Given the description of an element on the screen output the (x, y) to click on. 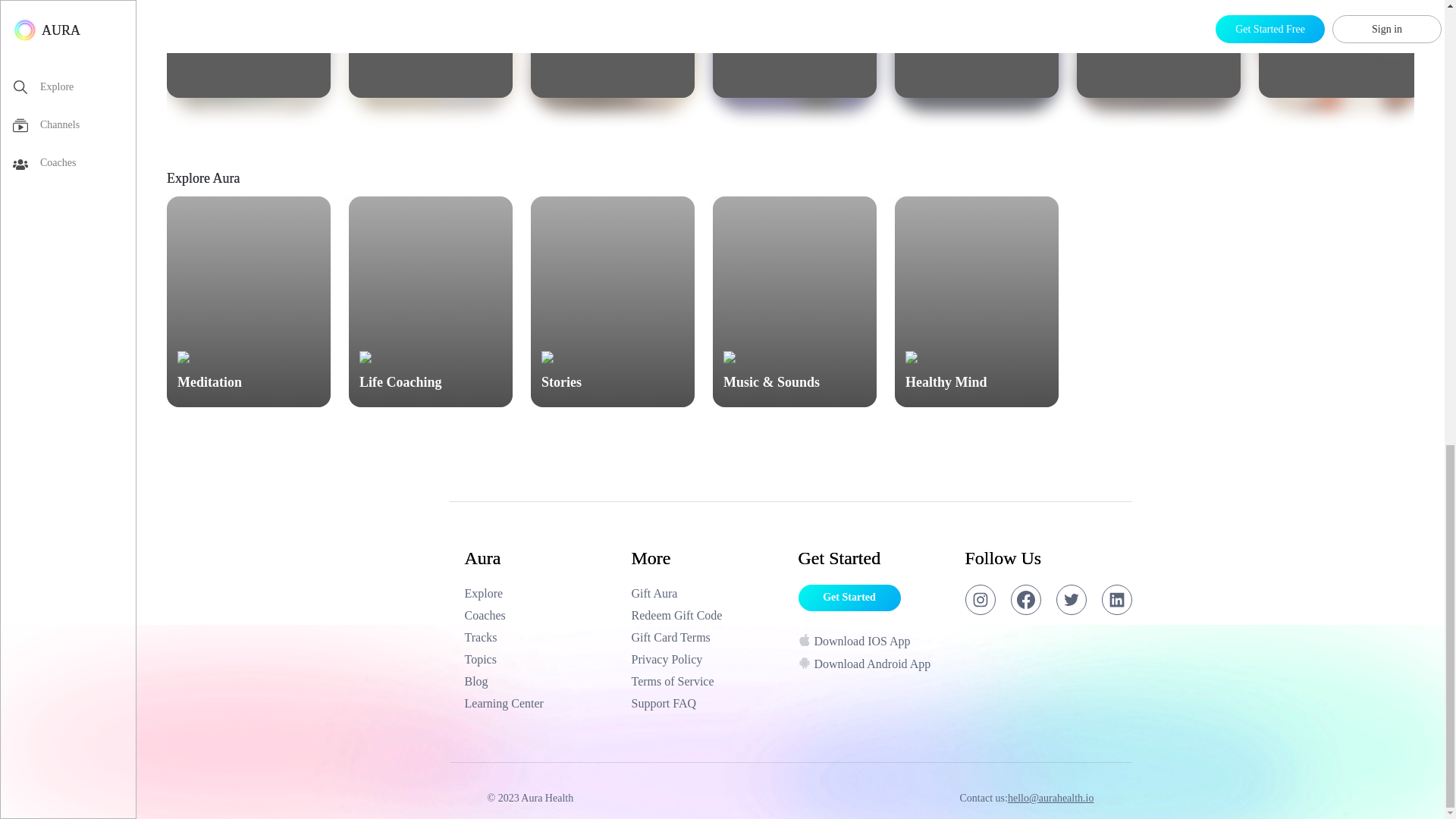
Gift Card Terms (706, 637)
Topics (539, 659)
Blog (430, 48)
Redeem Gift Code (1340, 48)
Coaches (539, 681)
Explore (248, 48)
